Given the description of an element on the screen output the (x, y) to click on. 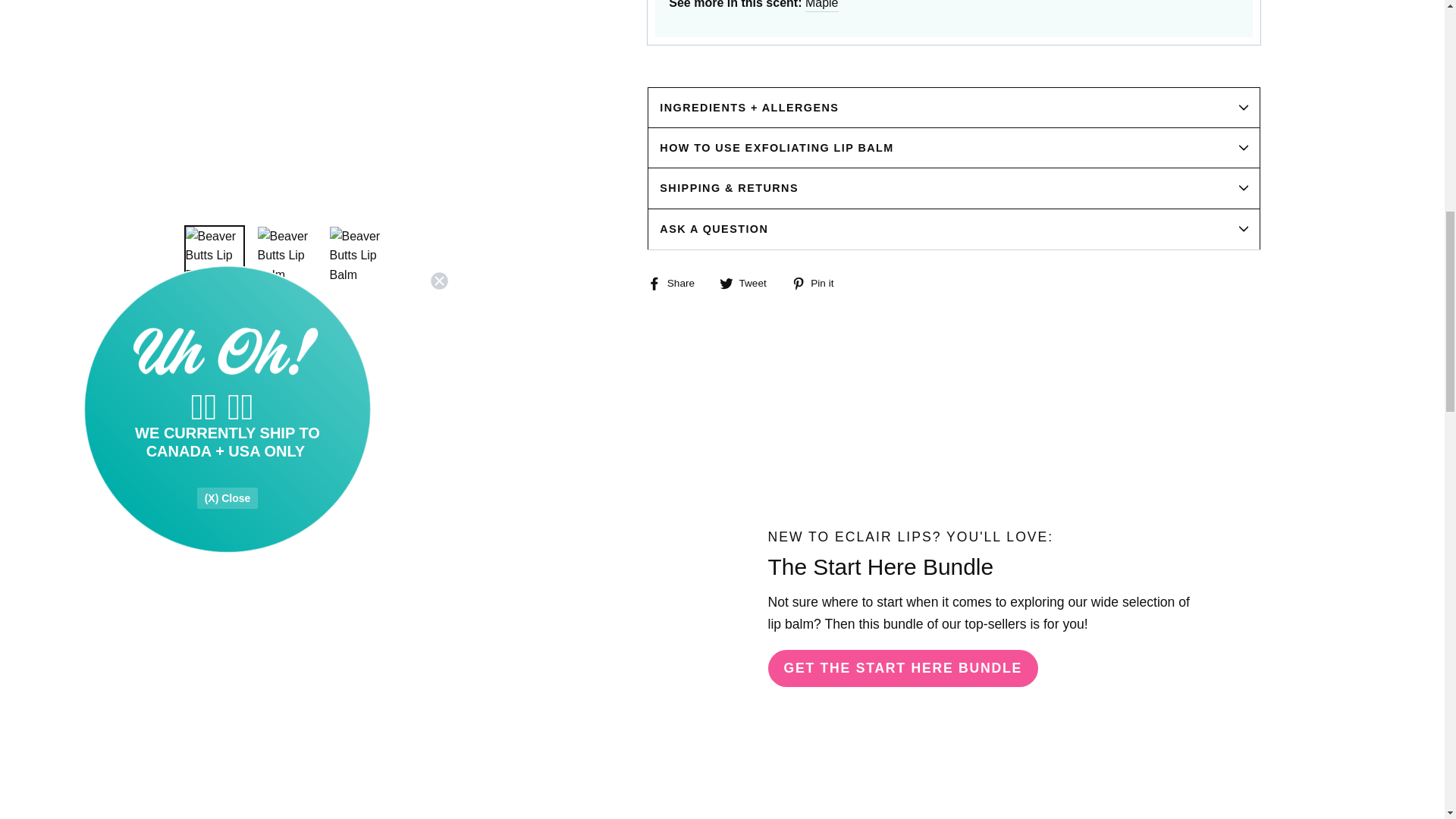
Share on Facebook (676, 282)
Maple Collection (821, 6)
Pin on Pinterest (818, 282)
Tweet on Twitter (748, 282)
